Given the description of an element on the screen output the (x, y) to click on. 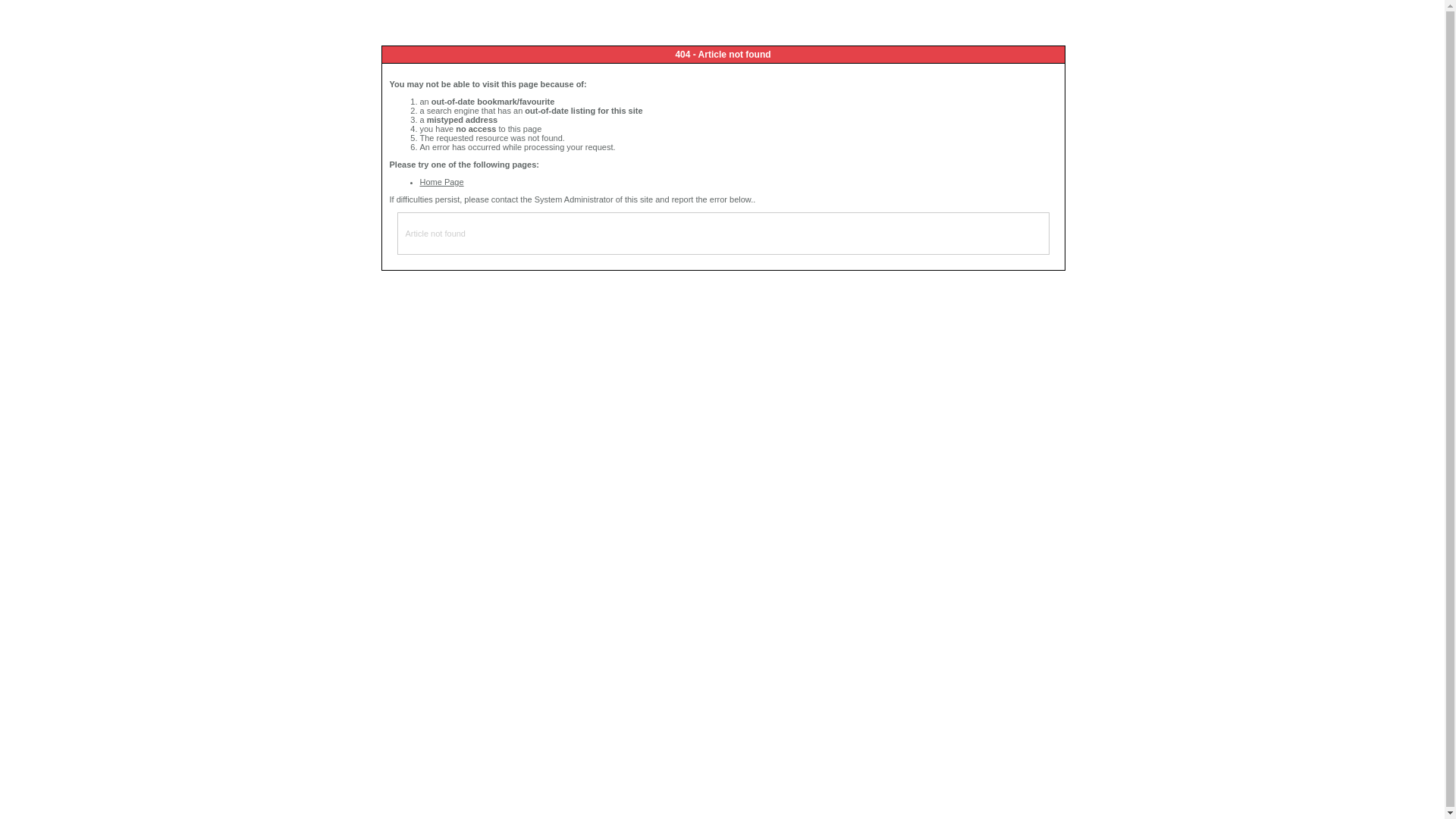
Home Page Element type: text (442, 181)
